Given the description of an element on the screen output the (x, y) to click on. 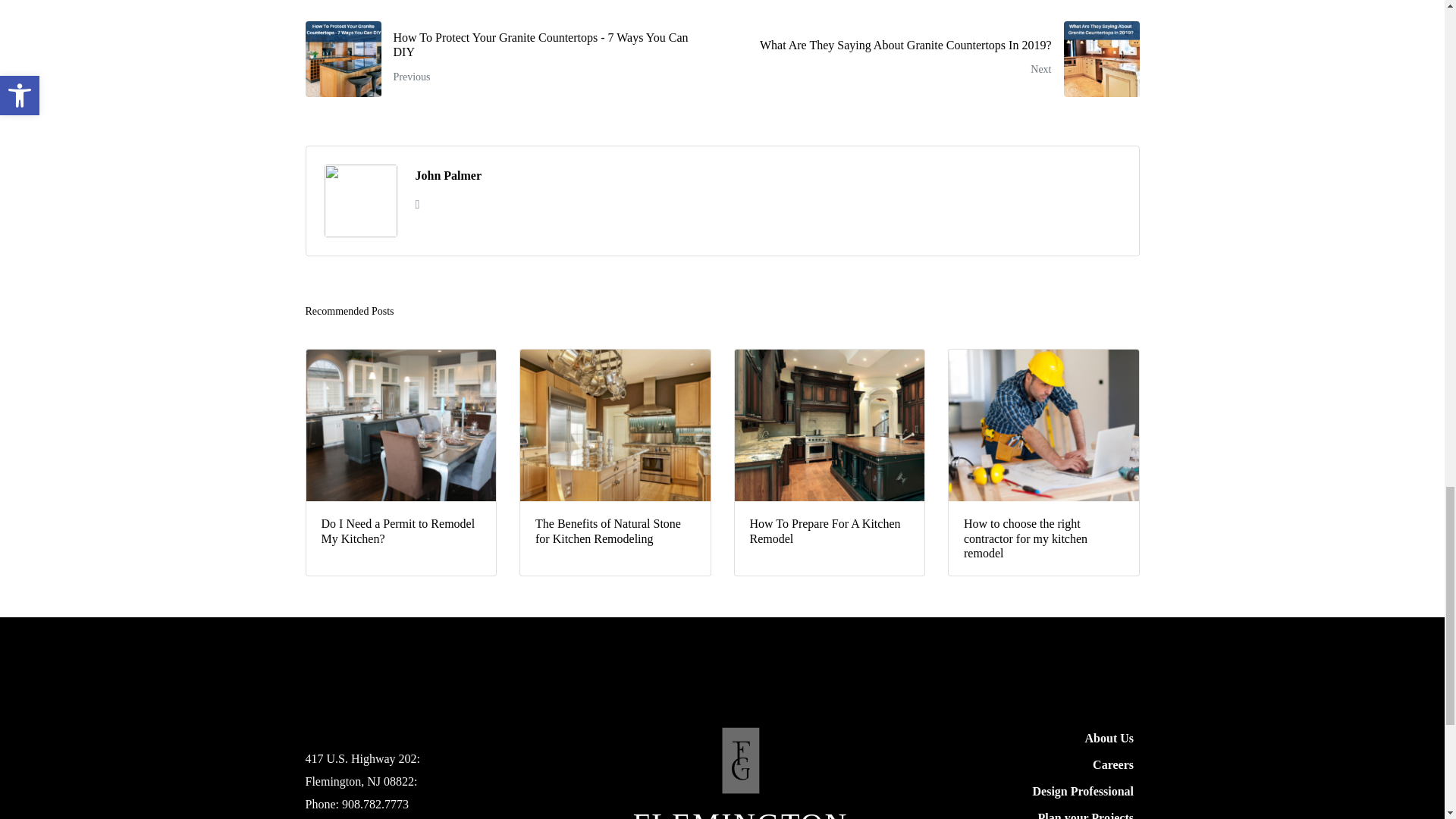
What Are They Saying About Granite Countertops In 2019? (936, 59)
How To Protect Your Granite Countertops - 7 Ways You Can DIY (508, 59)
